Given the description of an element on the screen output the (x, y) to click on. 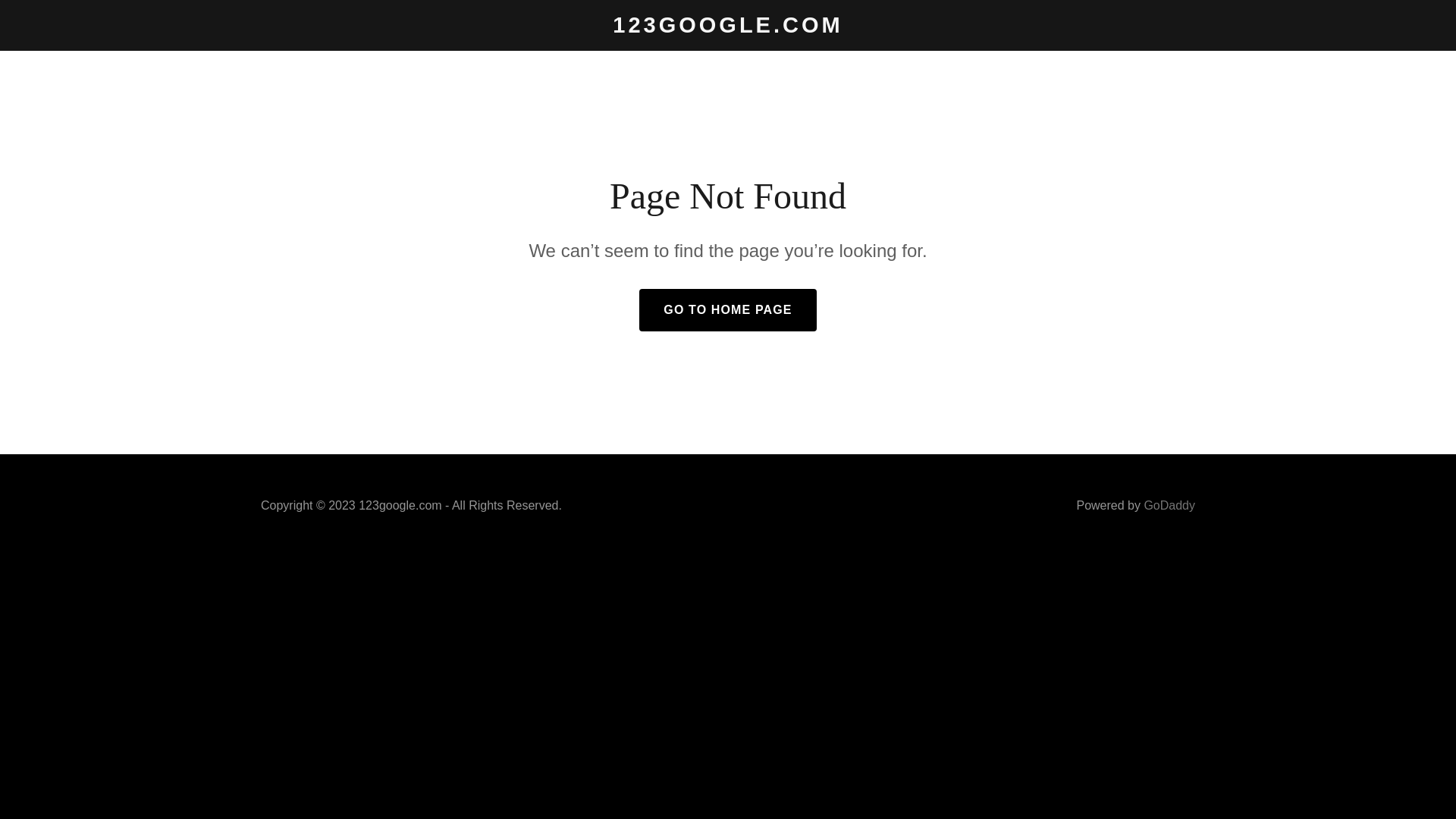
GoDaddy Element type: text (1169, 504)
123GOOGLE.COM Element type: text (727, 27)
GO TO HOME PAGE Element type: text (727, 309)
